Given the description of an element on the screen output the (x, y) to click on. 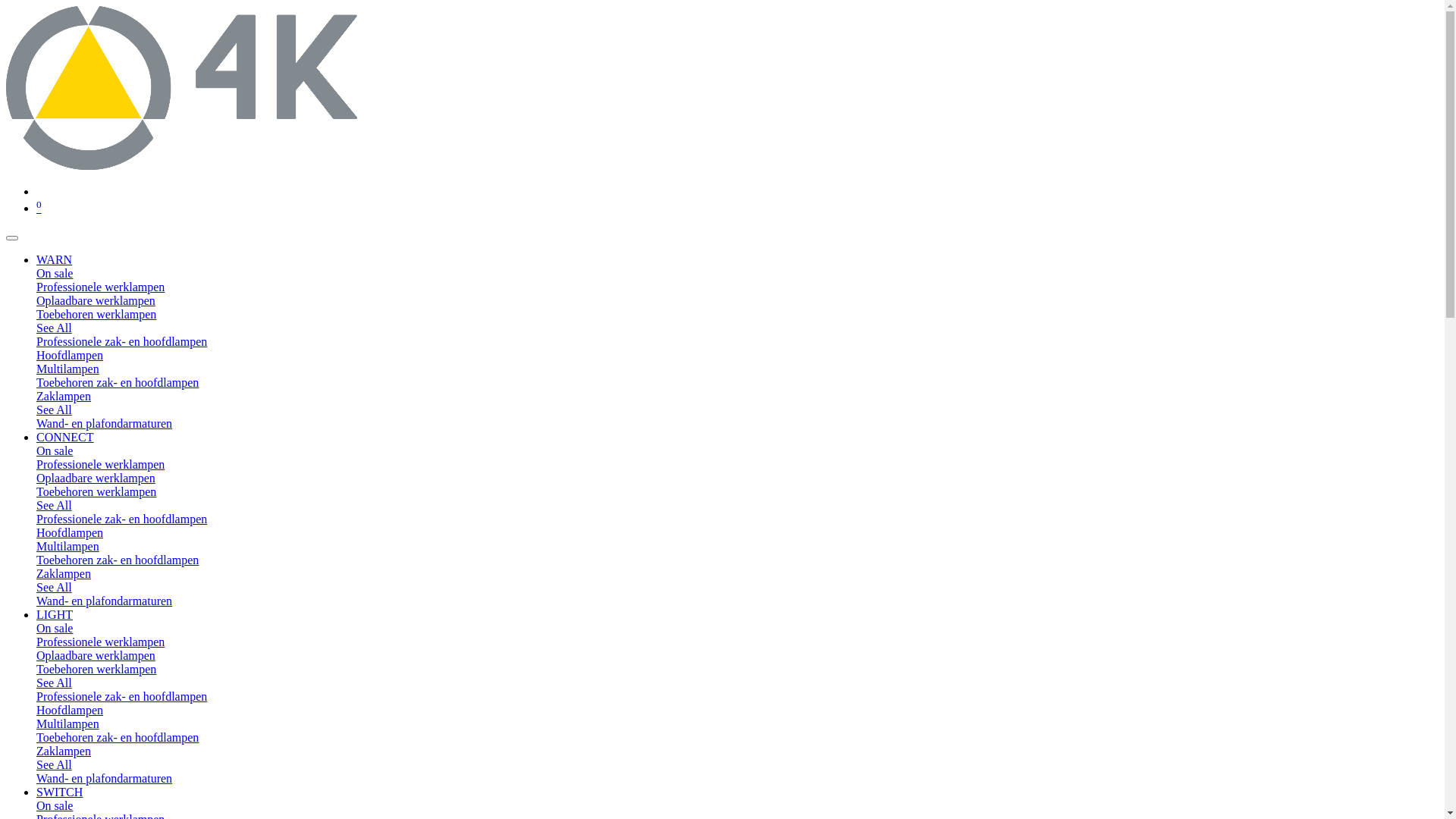
Oplaadbare werklampen Element type: text (95, 300)
Oplaadbare werklampen Element type: text (95, 477)
Toebehoren zak- en hoofdlampen Element type: text (117, 737)
SWITCH Element type: text (59, 791)
Wand- en plafondarmaturen Element type: text (737, 423)
4k Element type: hover (181, 165)
LIGHT Element type: text (54, 614)
Professionele zak- en hoofdlampen Element type: text (737, 341)
See All Element type: text (54, 764)
Professionele werklampen Element type: text (737, 464)
On sale Element type: text (737, 451)
On sale Element type: text (737, 805)
Multilampen Element type: text (67, 545)
Professionele werklampen Element type: text (737, 642)
Toebehoren zak- en hoofdlampen Element type: text (117, 382)
Toebehoren zak- en hoofdlampen Element type: text (117, 559)
Multilampen Element type: text (67, 723)
Oplaadbare werklampen Element type: text (95, 655)
Wand- en plafondarmaturen Element type: text (737, 601)
Professionele zak- en hoofdlampen Element type: text (737, 519)
See All Element type: text (54, 586)
Zaklampen Element type: text (63, 750)
Toebehoren werklampen Element type: text (96, 668)
On sale Element type: text (737, 273)
WARN Element type: text (54, 259)
Zaklampen Element type: text (63, 395)
See All Element type: text (54, 409)
See All Element type: text (54, 504)
Wand- en plafondarmaturen Element type: text (737, 778)
Zaklampen Element type: text (63, 573)
CONNECT Element type: text (65, 436)
On sale Element type: text (737, 628)
Hoofdlampen Element type: text (69, 532)
Professionele werklampen Element type: text (737, 287)
Professionele zak- en hoofdlampen Element type: text (737, 696)
Toebehoren werklampen Element type: text (96, 491)
See All Element type: text (54, 327)
Multilampen Element type: text (67, 368)
Toebehoren werklampen Element type: text (96, 313)
See All Element type: text (54, 682)
0 Element type: text (38, 207)
Hoofdlampen Element type: text (69, 354)
Hoofdlampen Element type: text (69, 709)
